Given the description of an element on the screen output the (x, y) to click on. 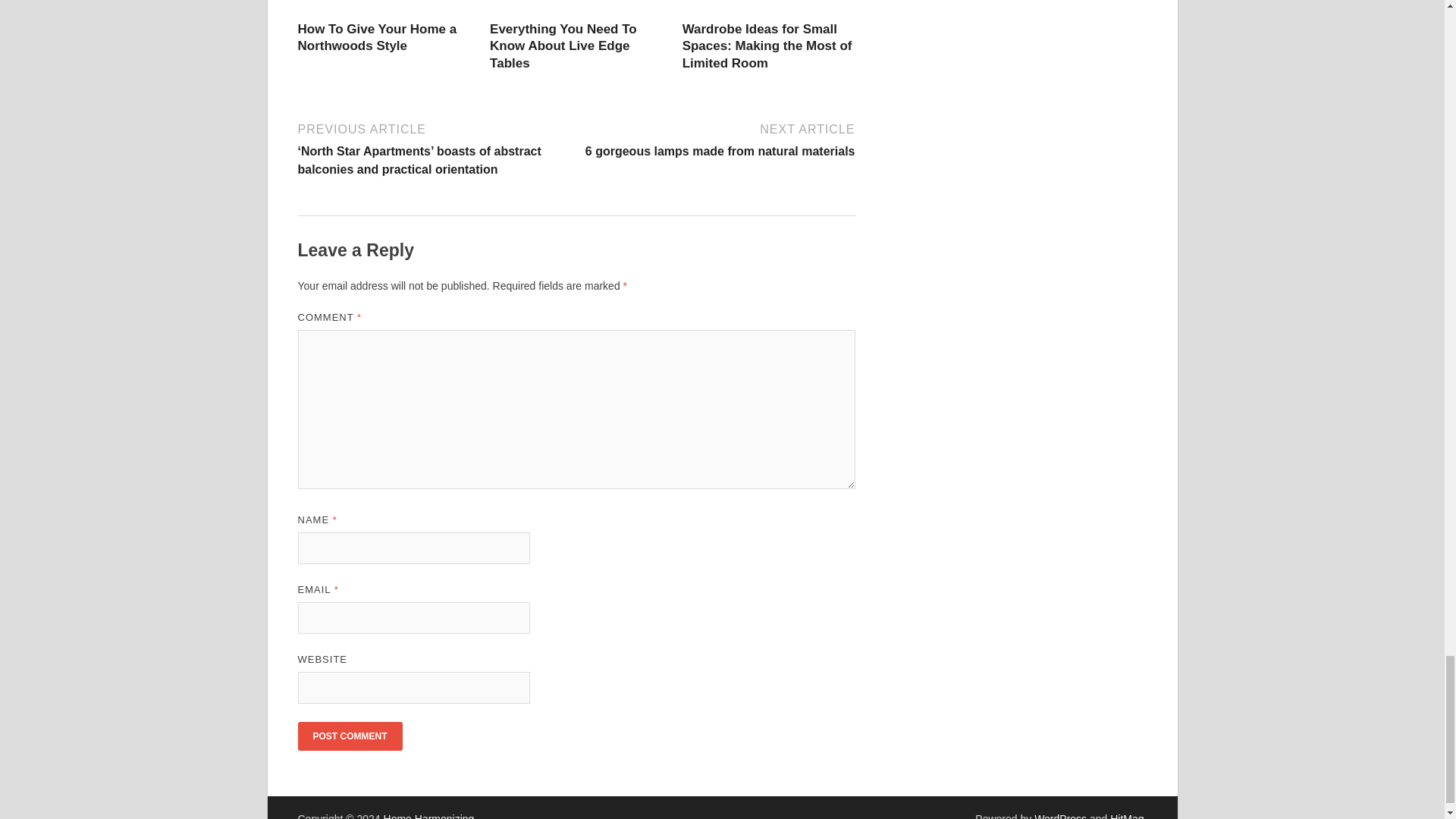
How To Give Your Home a Northwoods Style (377, 37)
Everything You Need To Know About Live Edge Tables (563, 45)
Post Comment (349, 736)
